Given the description of an element on the screen output the (x, y) to click on. 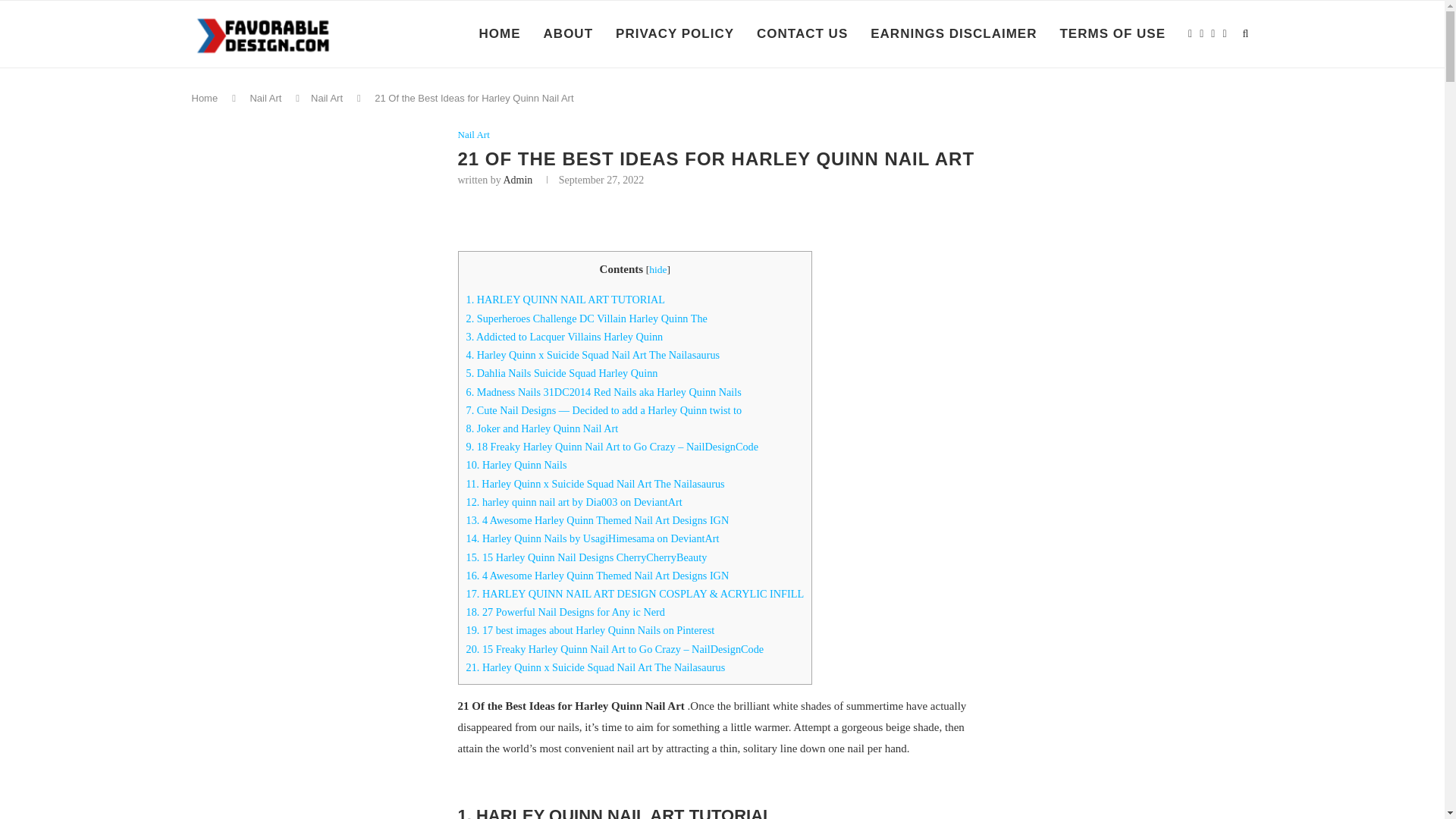
Nail Art (473, 134)
PRIVACY POLICY (674, 33)
1. HARLEY QUINN NAIL ART TUTORIAL (565, 299)
CONTACT US (802, 33)
Nail Art (326, 98)
4. Harley Quinn x Suicide Squad Nail Art The Nailasaurus (592, 354)
2. Superheroes Challenge DC Villain Harley Quinn The (585, 318)
Admin (517, 179)
hide (657, 269)
Nail Art (264, 98)
